Given the description of an element on the screen output the (x, y) to click on. 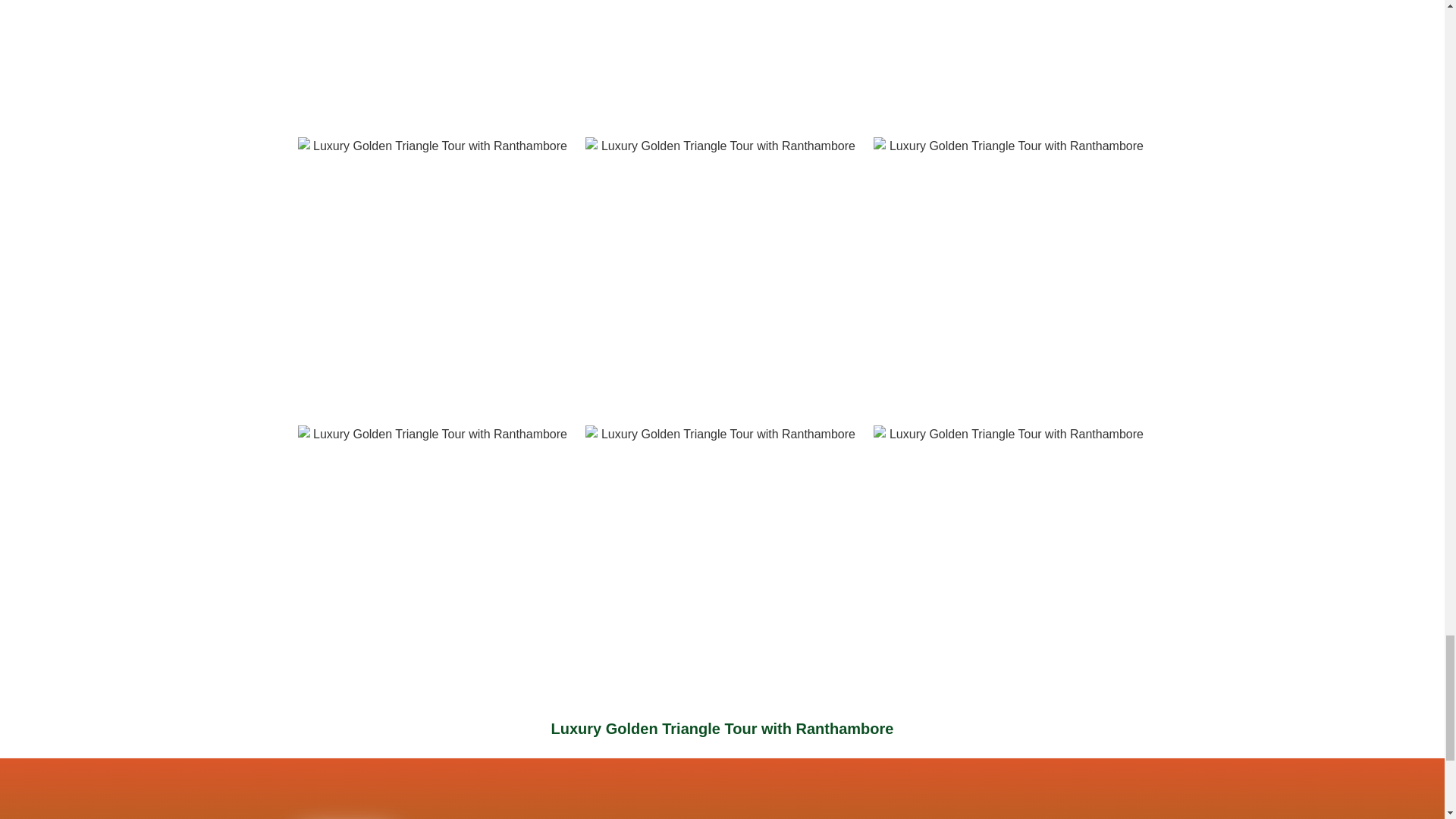
Luxury Golden Triangle Tour with Ranthambore (433, 61)
Luxury Golden Triangle Tour with Ranthambore (433, 273)
Luxury Golden Triangle Tour with Ranthambore (722, 61)
Luxury Golden Triangle Tour with Ranthambore (722, 273)
Luxury Golden Triangle Tour with Ranthambore (1010, 561)
Luxury Golden Triangle Tour with Ranthambore (1010, 61)
Luxury Golden Triangle Tour with Ranthambore (433, 561)
Luxury Golden Triangle Tour with Ranthambore (722, 561)
Luxury Golden Triangle Tour with Ranthambore (1010, 273)
